Given the description of an element on the screen output the (x, y) to click on. 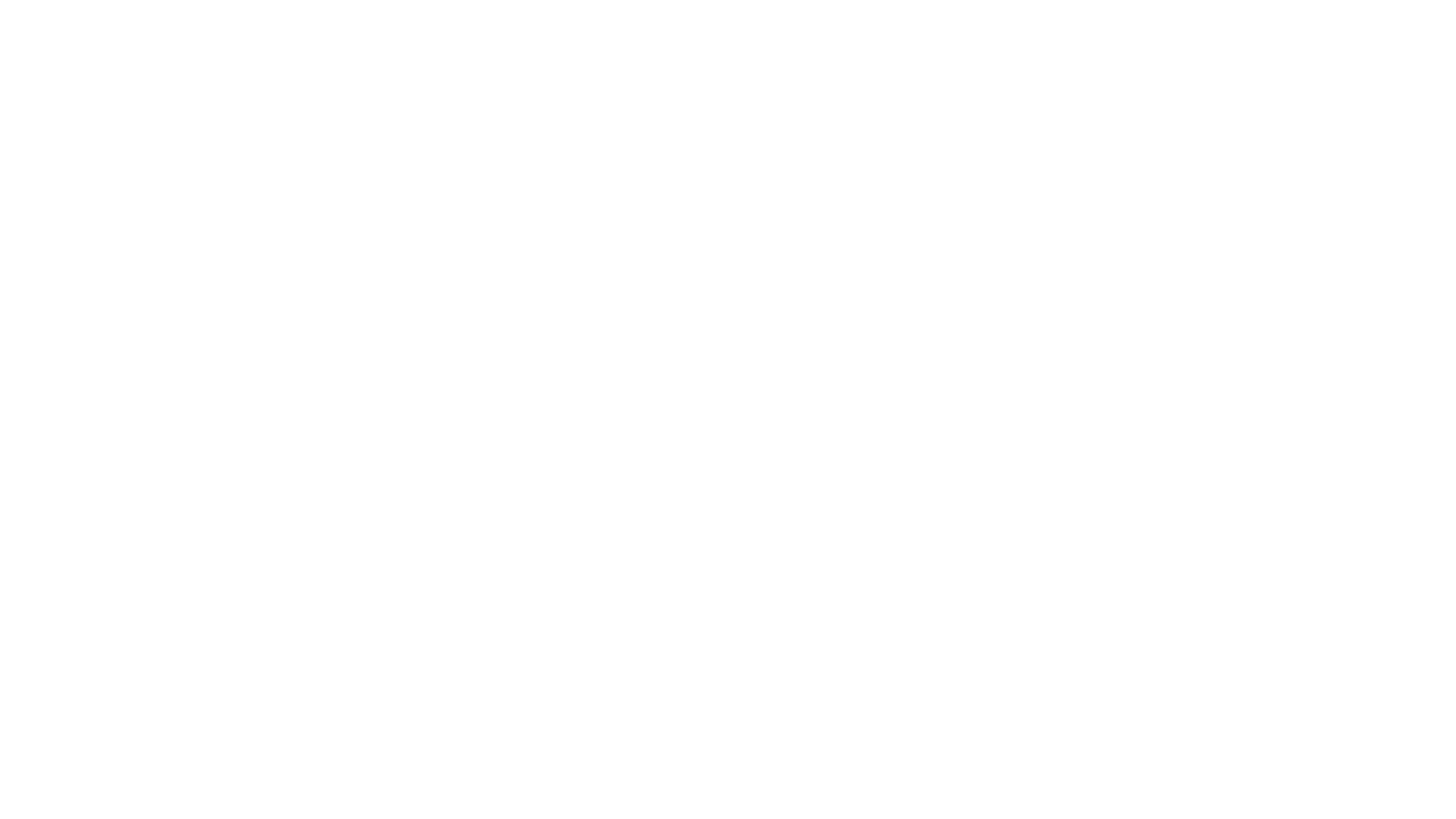
AZ Element type: text (1383, 40)
+994 12404 82 20 Element type: text (621, 180)
EN Element type: text (1409, 40)
RESTORANLAR Element type: text (1316, 281)
QADIN AYAQQABILARI Element type: text (1012, 225)
| Element type: text (1396, 40)
